Given the description of an element on the screen output the (x, y) to click on. 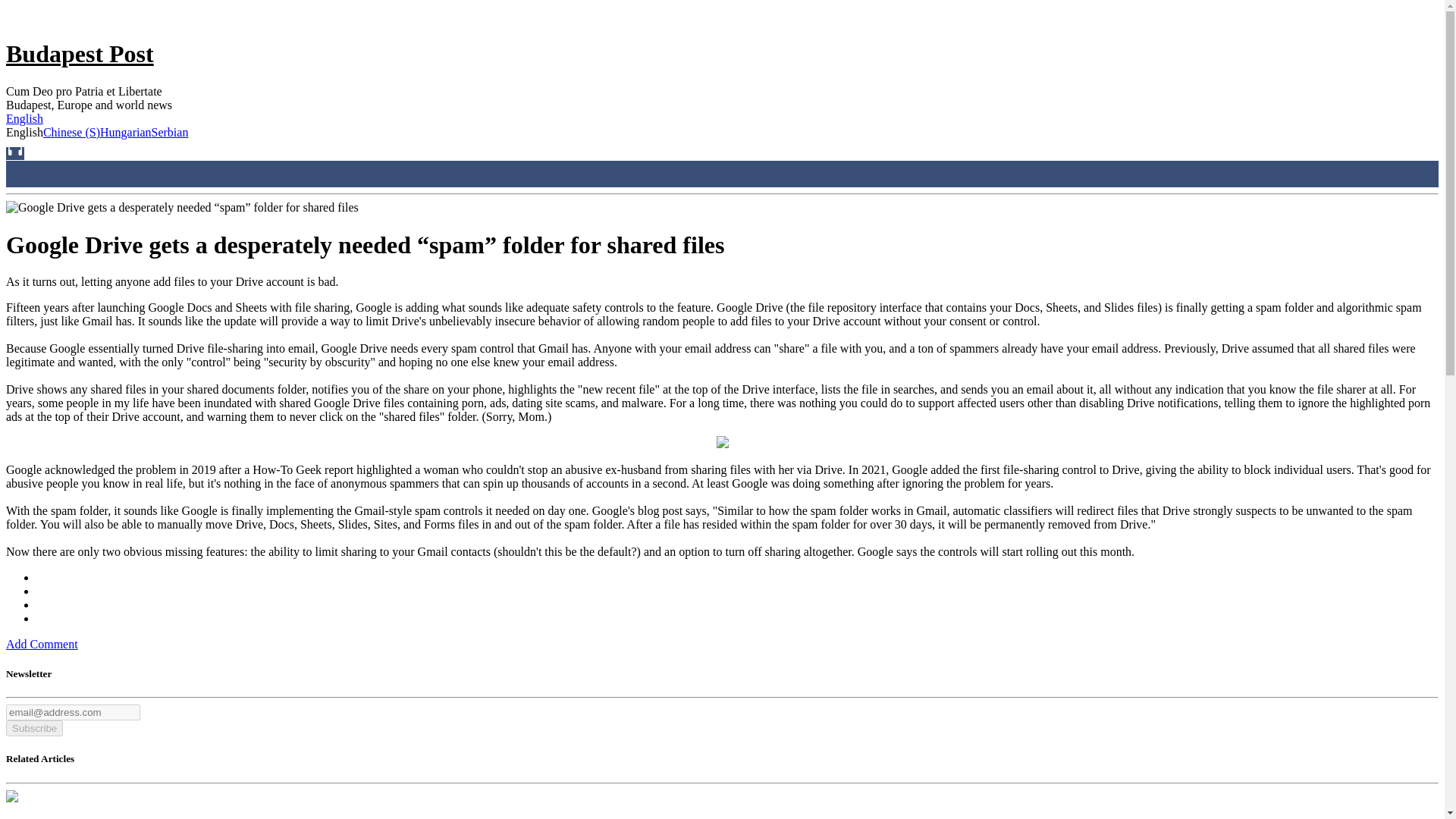
Serbian (170, 132)
Budapest Post (79, 53)
Add Comment (41, 644)
English (24, 118)
Subscribe (33, 728)
Hungarian (125, 132)
